Given the description of an element on the screen output the (x, y) to click on. 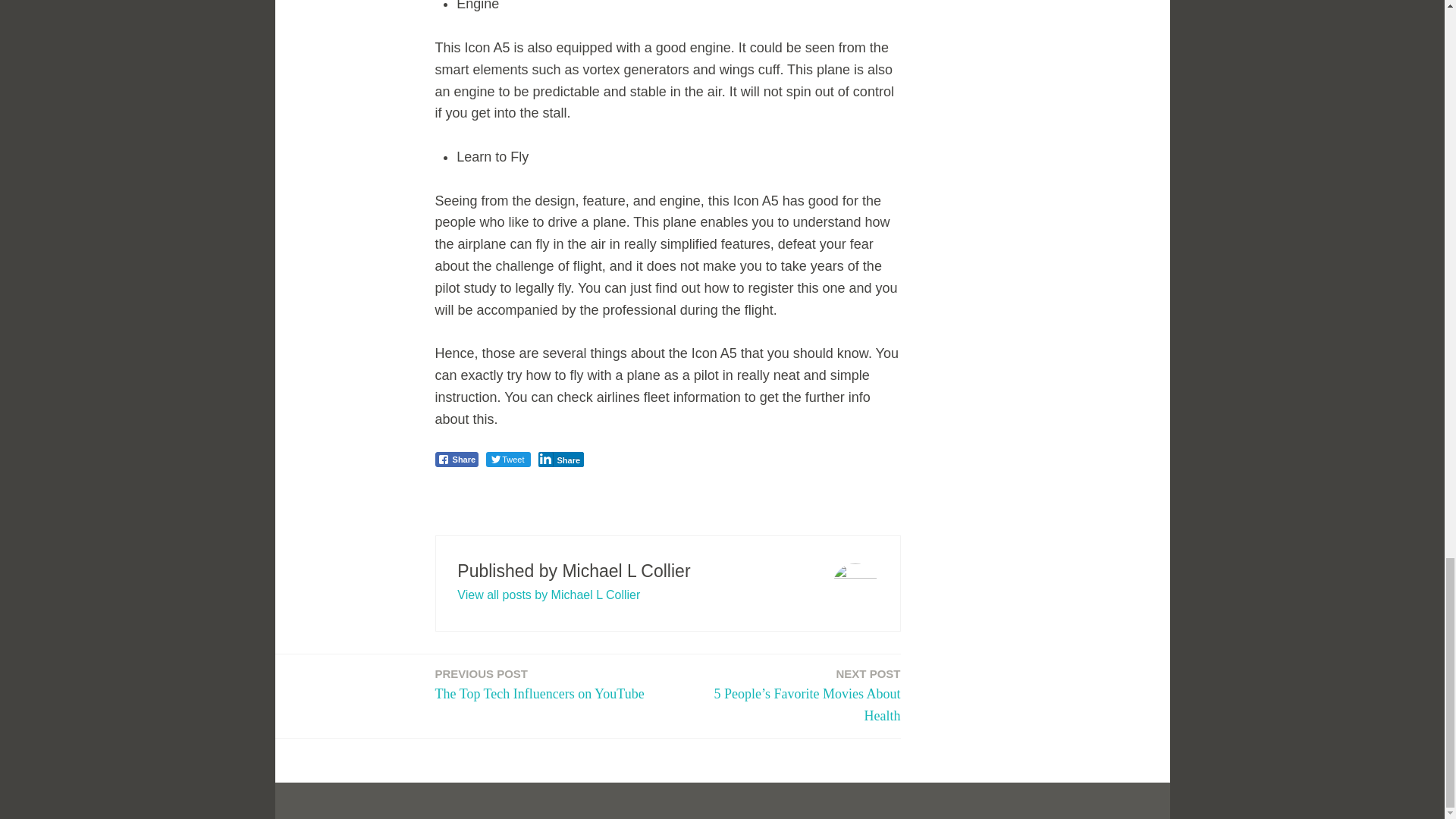
Share (457, 459)
Share (561, 459)
Tweet (540, 685)
View all posts by Michael L Collier (507, 459)
